Given the description of an element on the screen output the (x, y) to click on. 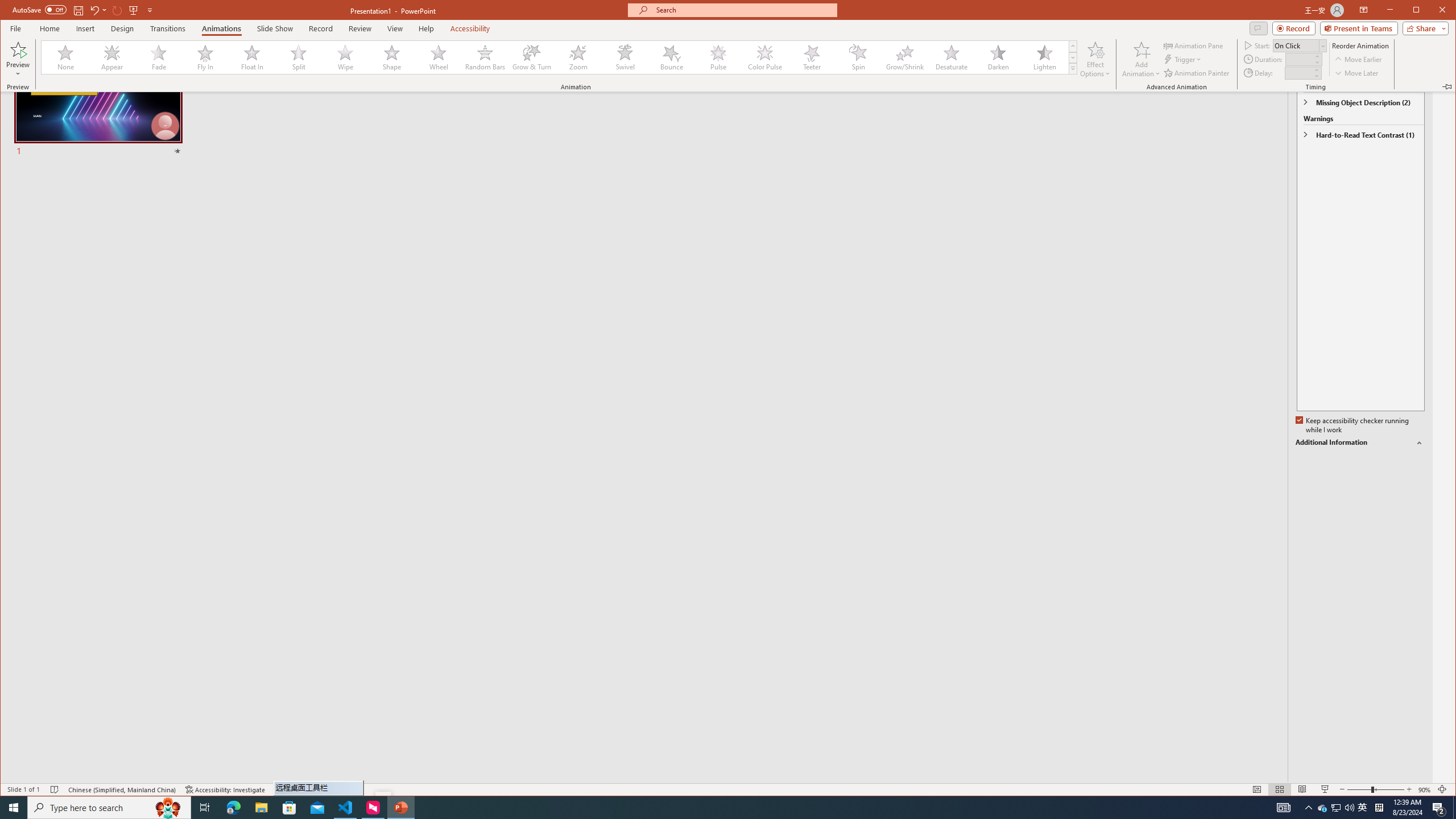
Help (426, 28)
More Options (105, 9)
File Tab (15, 27)
View (395, 28)
Microsoft search (742, 10)
Show desktop (1454, 807)
Ribbon Display Options (1364, 9)
Zoom to Fit  (1441, 789)
Tray Input Indicator - Chinese (Simplified, China) (1378, 807)
Reading View (1302, 789)
Review (360, 28)
